Given the description of an element on the screen output the (x, y) to click on. 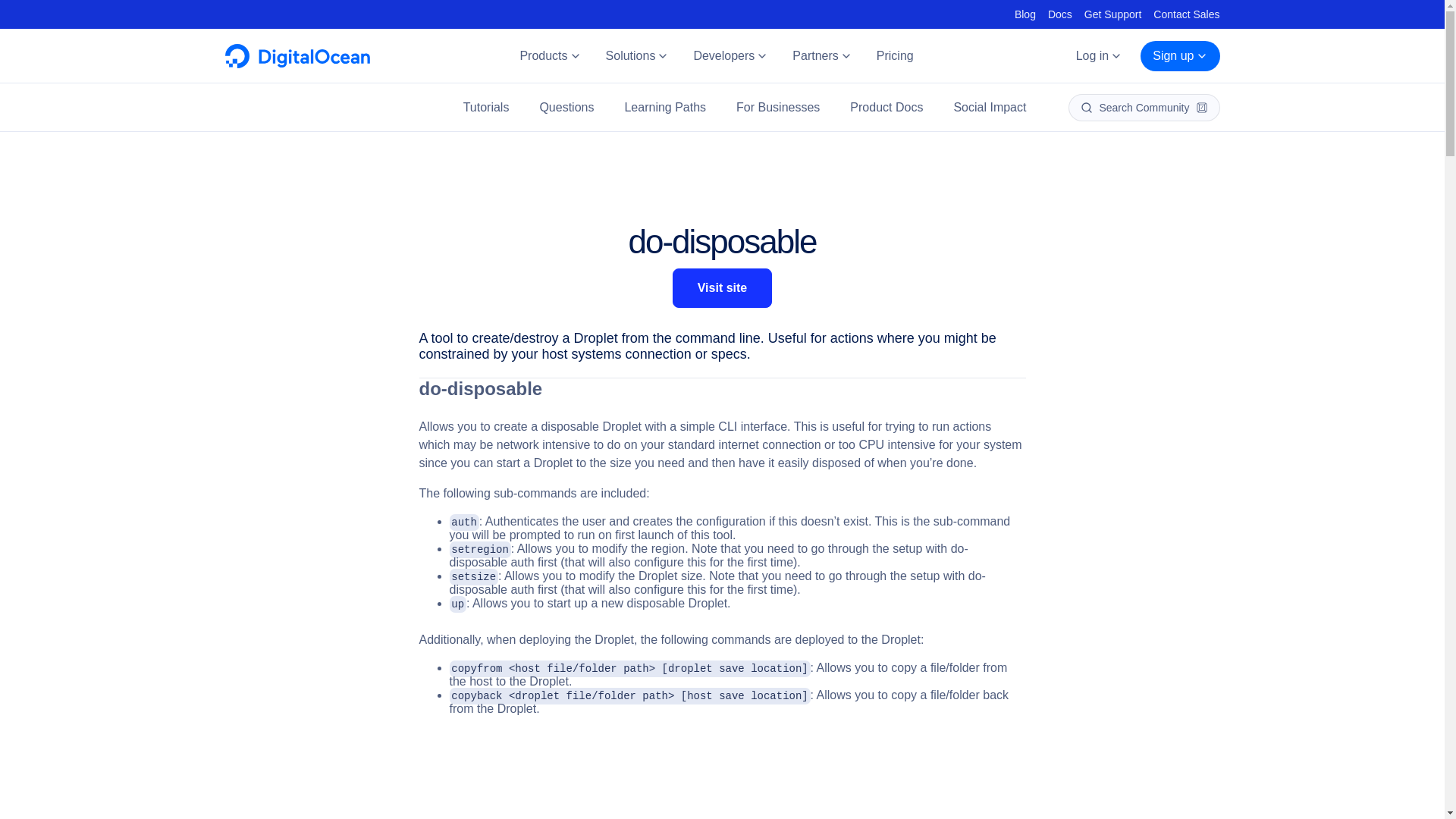
Docs (1059, 14)
Blog (1024, 14)
Contact Sales (1186, 14)
Get Support (1112, 14)
DigitalOcean (296, 63)
Products (549, 55)
